Given the description of an element on the screen output the (x, y) to click on. 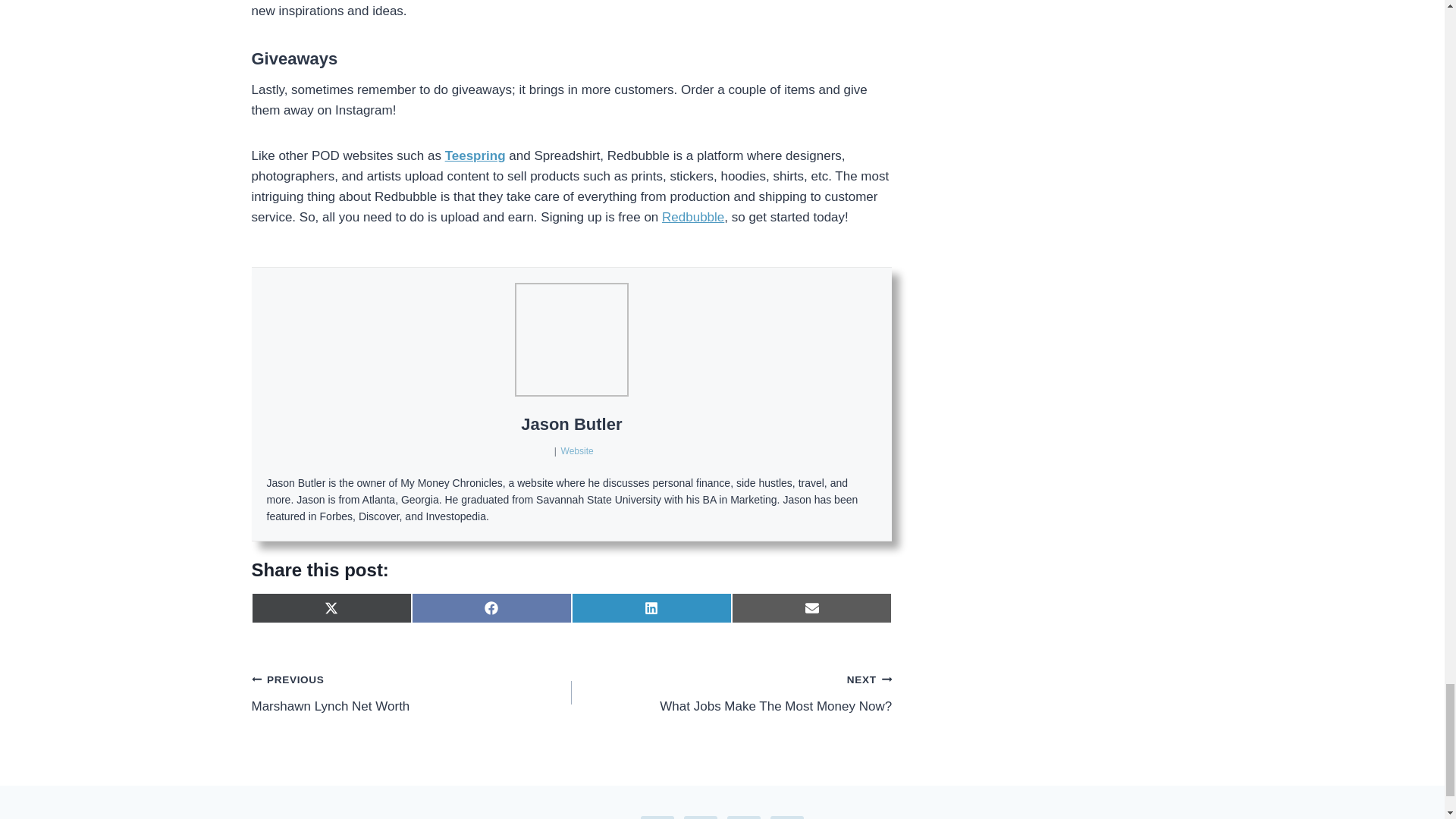
Teespring (475, 155)
Redbubble (692, 216)
